Given the description of an element on the screen output the (x, y) to click on. 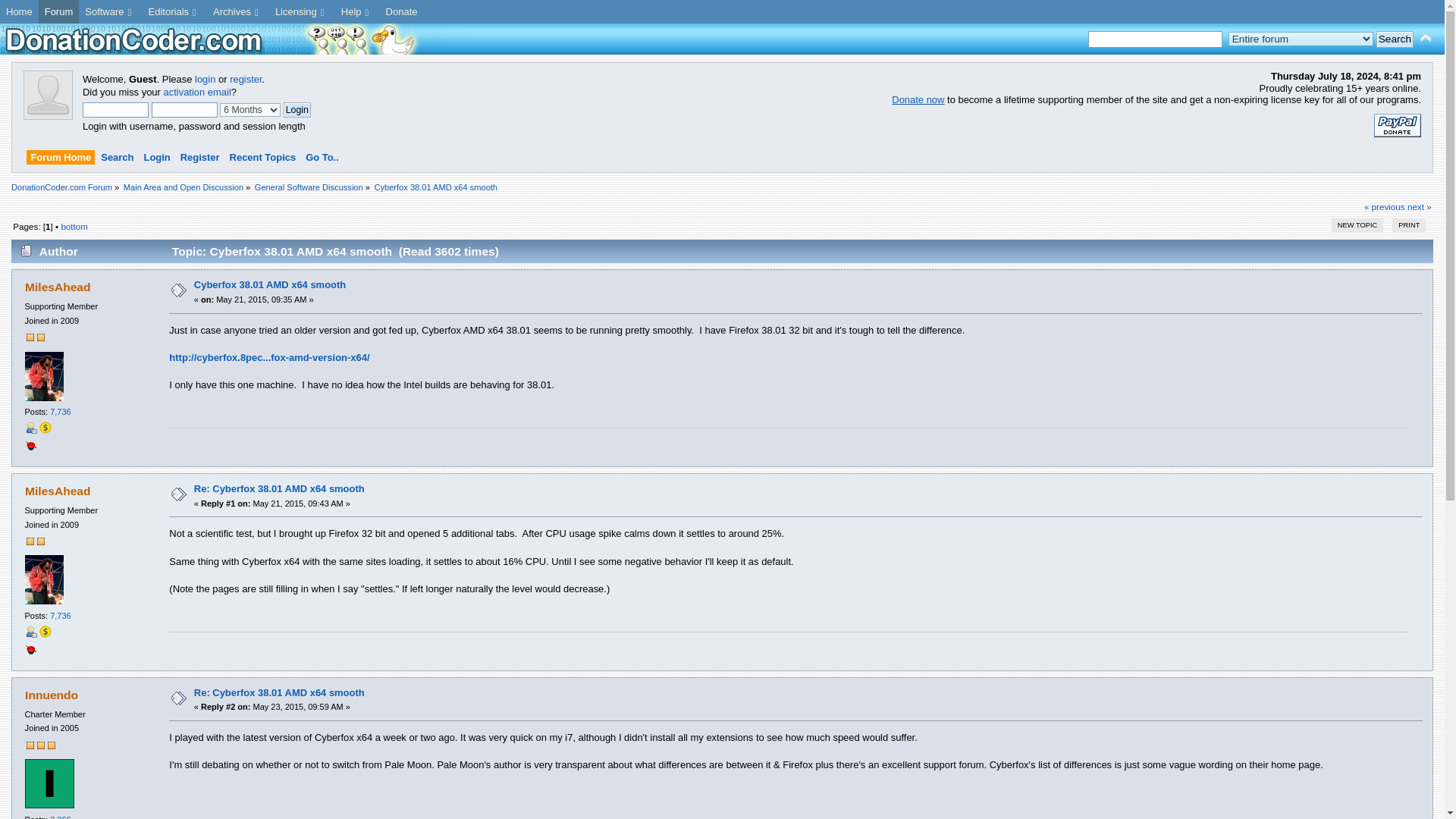
Donate to Member (44, 427)
Login (297, 109)
View the profile of MilesAhead (57, 286)
Software (109, 11)
View Profile (30, 631)
Donate to Member (44, 631)
Shrink or expand the header. (1425, 38)
click to register on the forum (47, 116)
Editorials (174, 11)
Search (1394, 39)
View the profile of MilesAhead (57, 490)
Forum (59, 11)
Archives (237, 11)
View the profile of Innuendo (51, 694)
Home (19, 11)
